Given the description of an element on the screen output the (x, y) to click on. 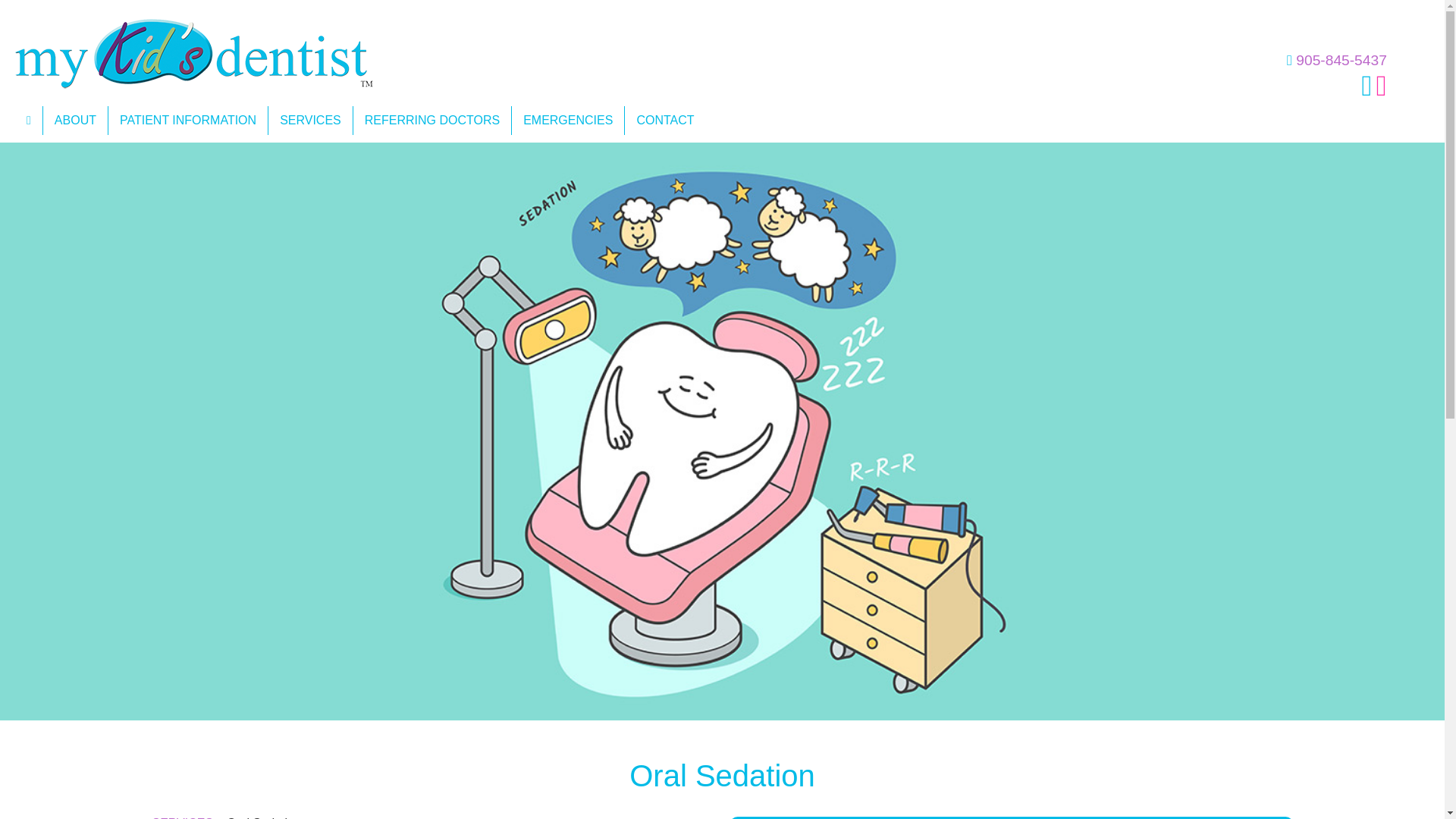
SERVICES (310, 120)
my kid (193, 53)
ABOUT (75, 120)
PATIENT INFORMATION (187, 120)
905-845-5437 (1341, 59)
